Given the description of an element on the screen output the (x, y) to click on. 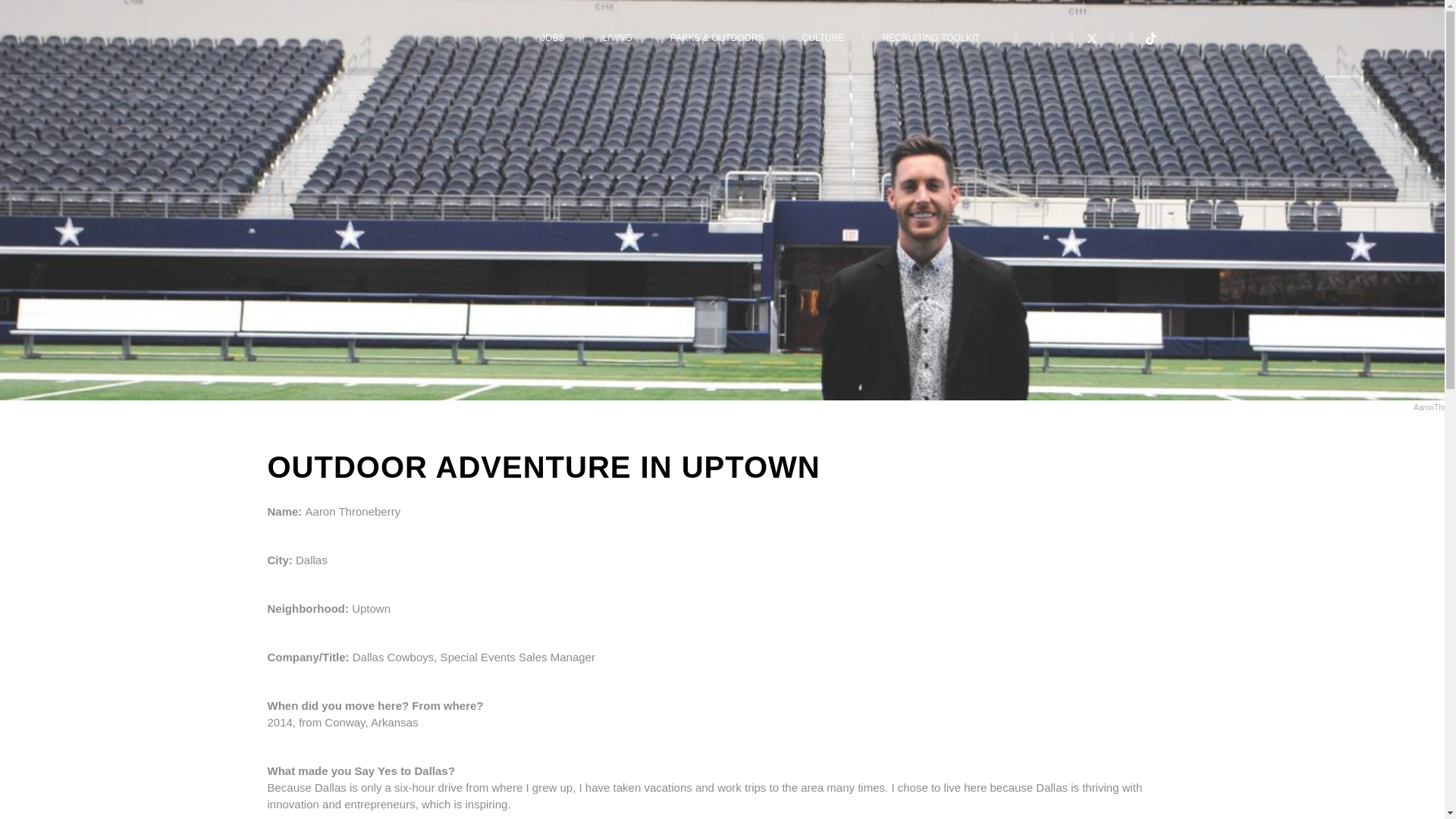
CULTURE (823, 37)
TikTok (1150, 38)
RECRUITING TOOLKIT (930, 37)
Facebook (1051, 38)
Linkedin (1131, 38)
X (1091, 38)
LIVING (616, 37)
